Given the description of an element on the screen output the (x, y) to click on. 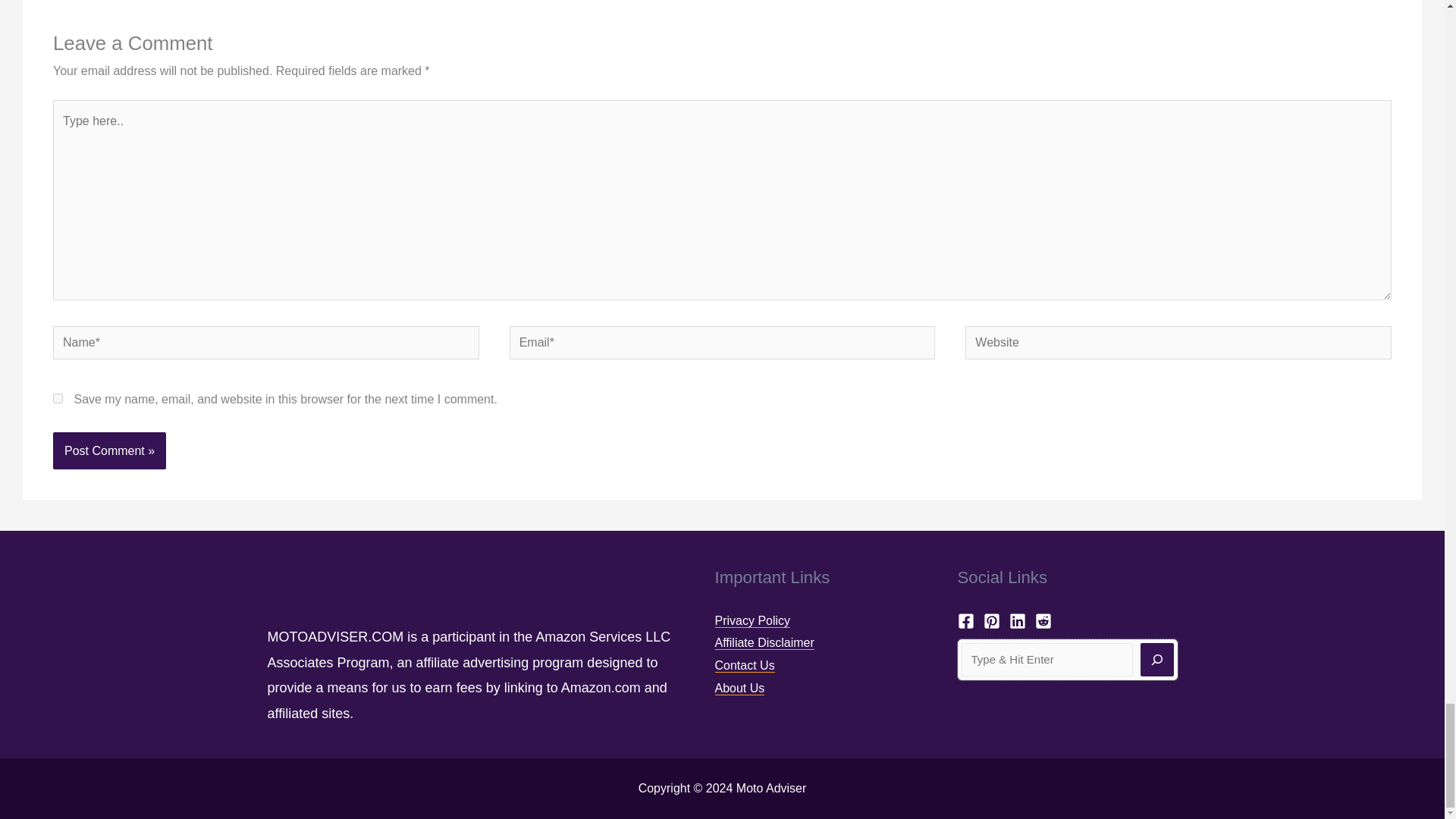
yes (57, 398)
